Given the description of an element on the screen output the (x, y) to click on. 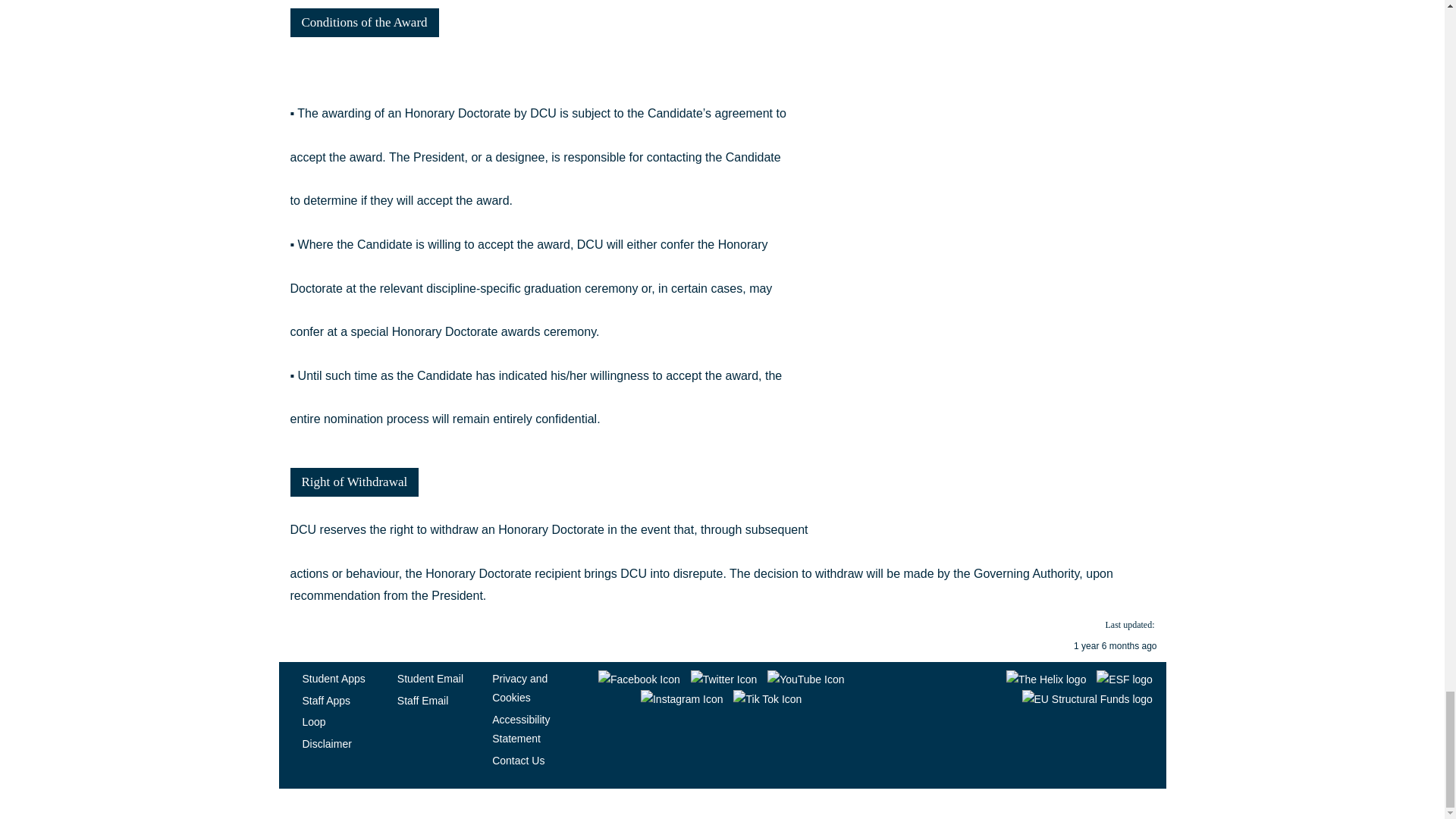
Staff Apps  (325, 700)
Privacy (521, 728)
Staff Email (422, 700)
Student Email (430, 678)
Contact (518, 760)
Loop Footer Link (312, 721)
Privacy (519, 687)
Disclaimer (325, 743)
